Given the description of an element on the screen output the (x, y) to click on. 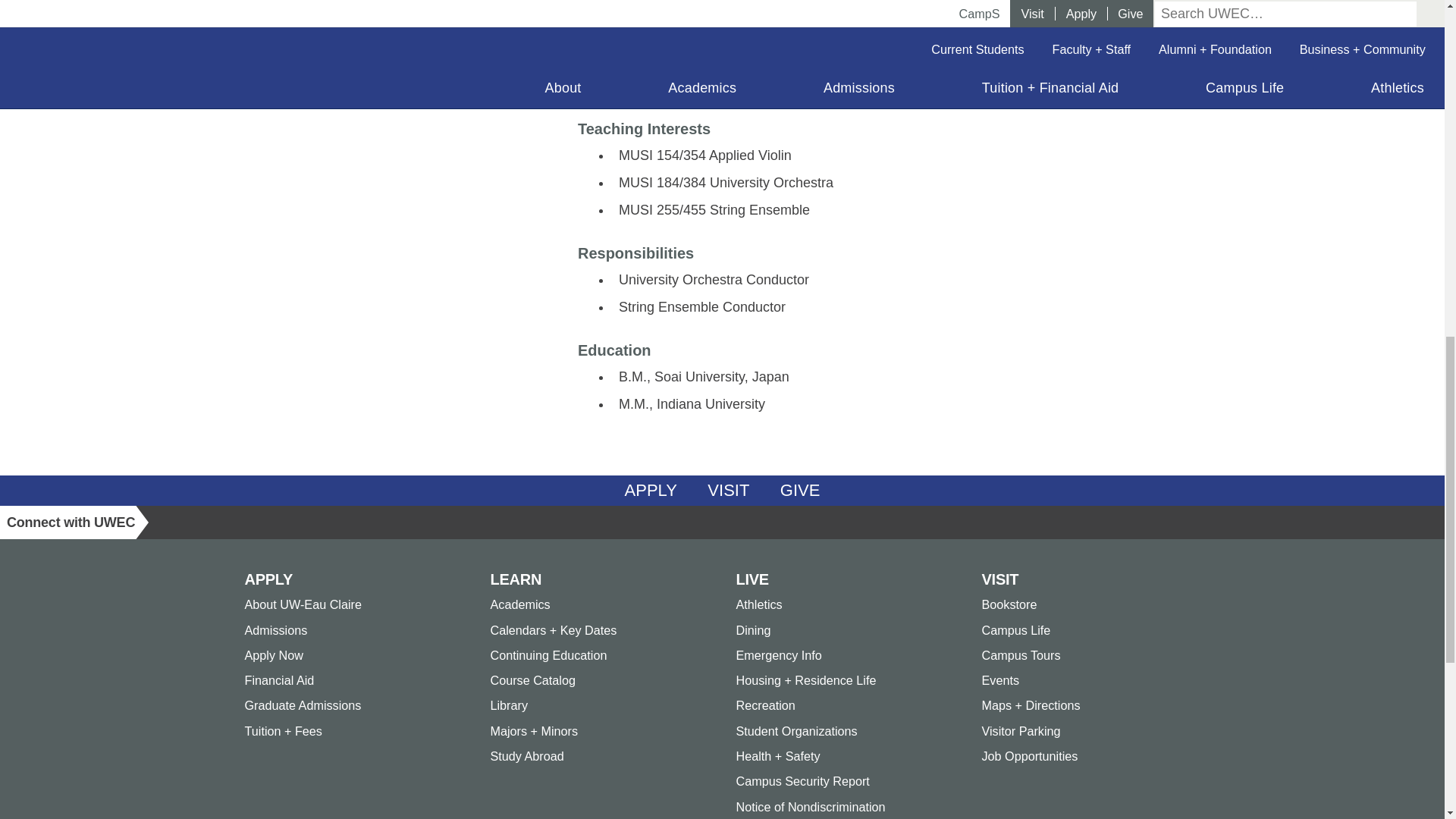
Follow us on TikTok (352, 522)
Follow us on Twitter (205, 522)
Connect with us on LinkedIn (242, 522)
Like us on Facebook (169, 522)
Follow us on Instagram (278, 522)
Subscribe to our YouTube channel (389, 522)
Apply Now (650, 490)
Give Now (800, 490)
Snap with us on Snapchat (316, 522)
Plan a Visit (728, 490)
